Given the description of an element on the screen output the (x, y) to click on. 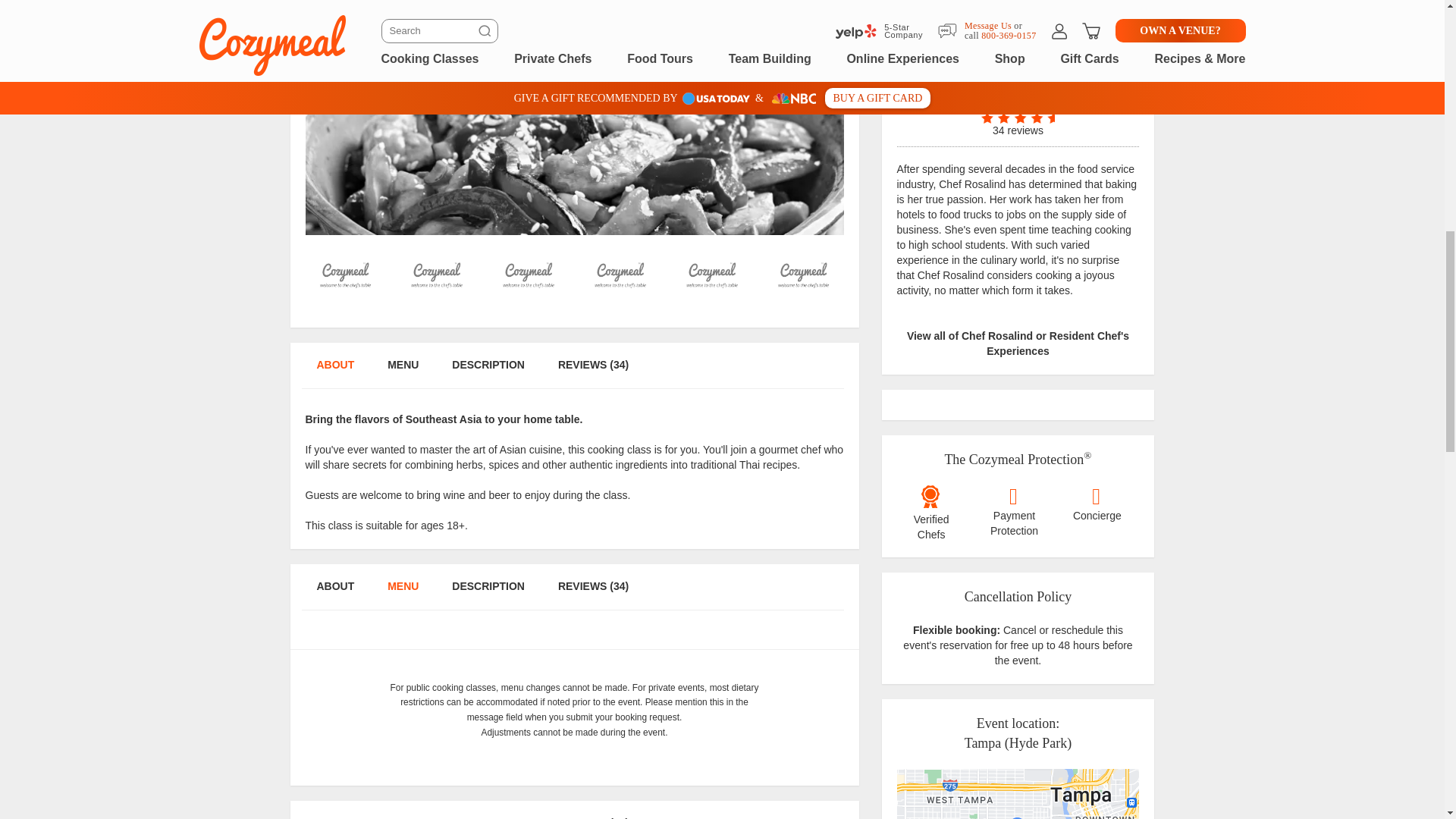
DESCRIPTION (488, 817)
MENU (402, 594)
MENU (402, 817)
ABOUT (334, 372)
ABOUT (334, 817)
ABOUT (334, 594)
DESCRIPTION (488, 372)
DESCRIPTION (488, 594)
34 reviews (1017, 125)
MENU (402, 372)
